Given the description of an element on the screen output the (x, y) to click on. 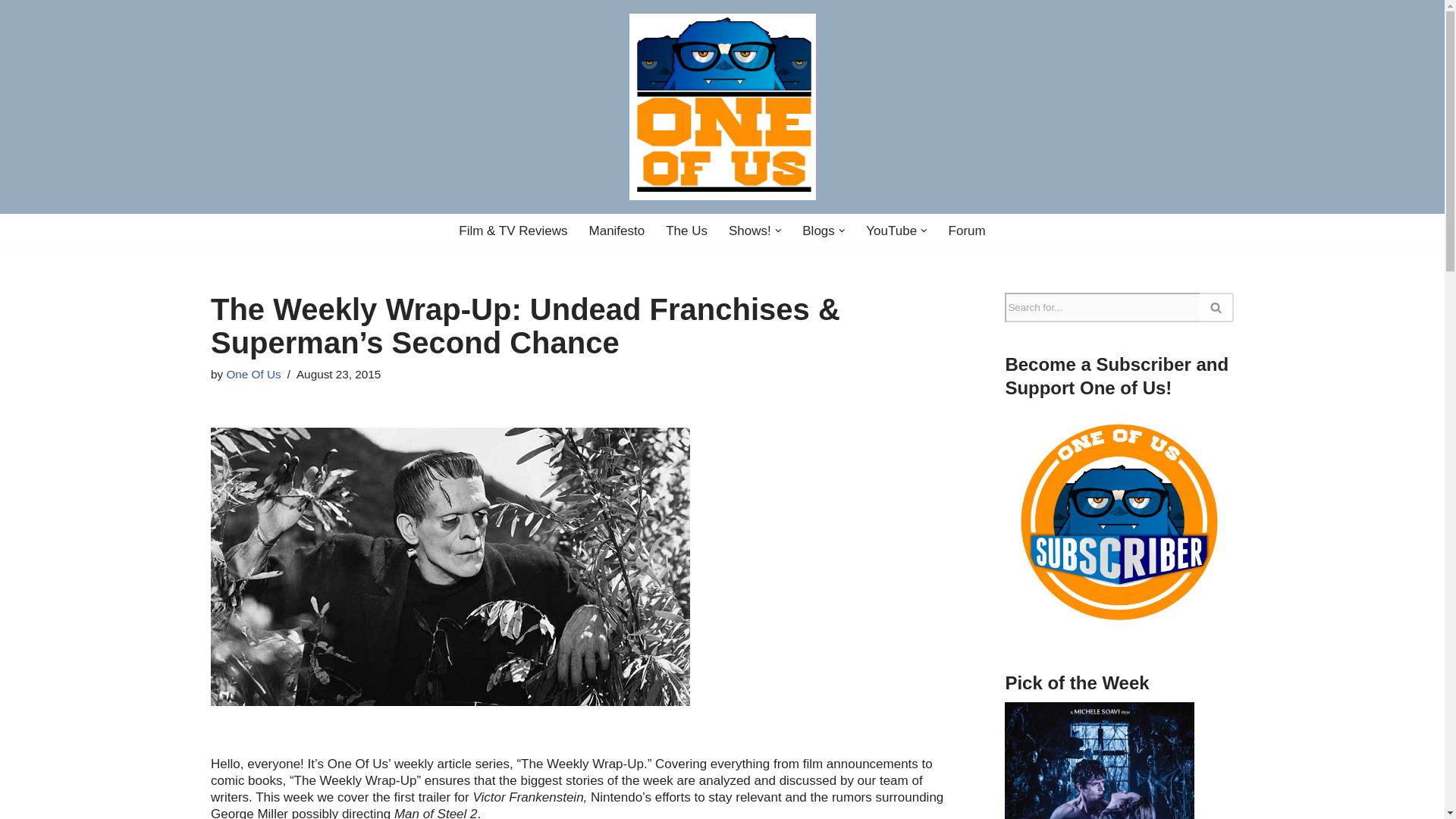
About (617, 230)
Manifesto (617, 230)
Blogs (818, 230)
Skip to content (11, 31)
Forum (967, 230)
Shows! (750, 230)
YouTube (891, 230)
Posts by One Of Us (253, 373)
The Us (686, 230)
